Given the description of an element on the screen output the (x, y) to click on. 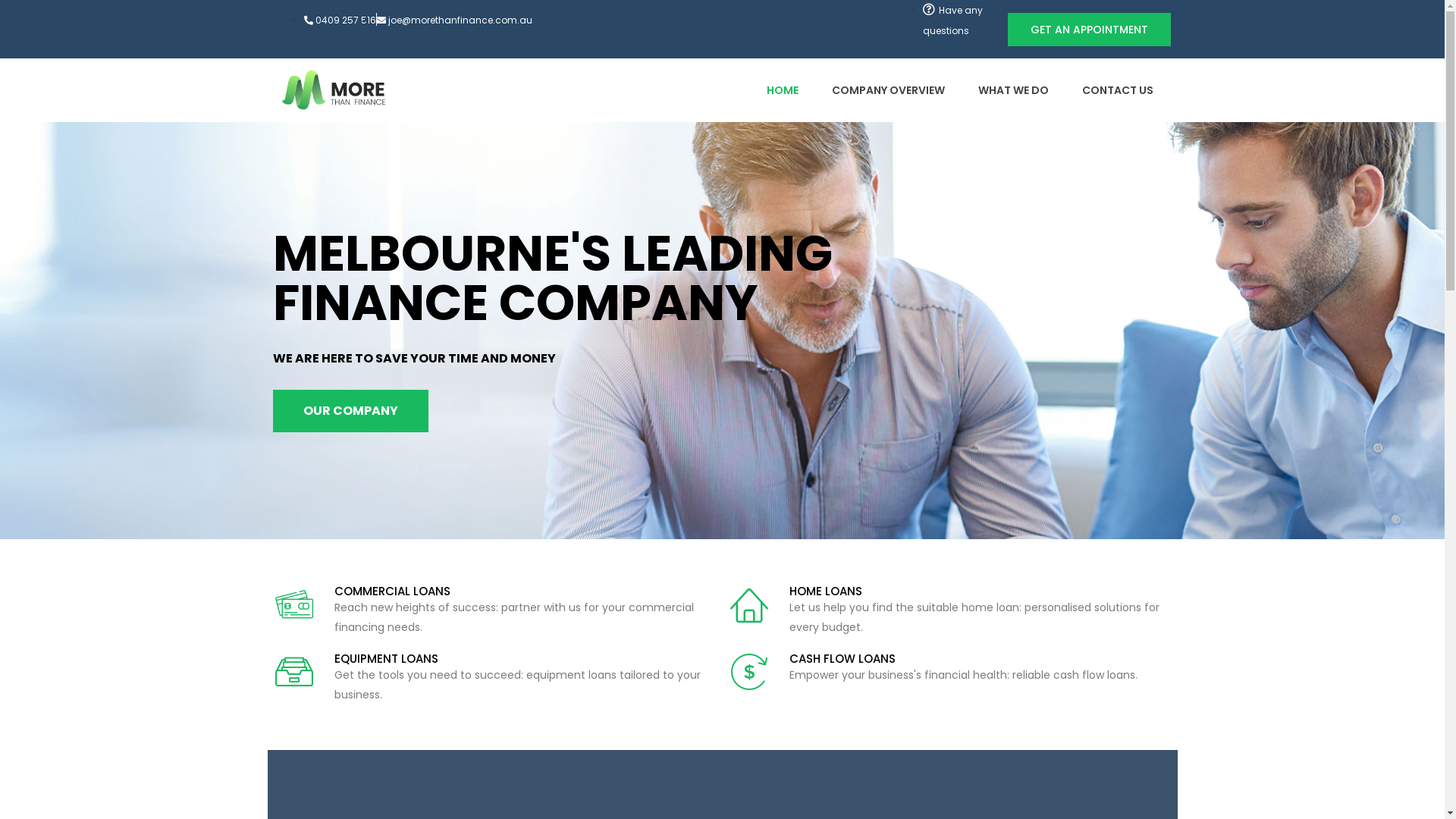
GET AN APPOINTMENT Element type: text (1088, 29)
joe@morethanfinance.com.au Element type: text (453, 19)
WHAT WE DO Element type: text (1013, 89)
0409 257 516 Element type: text (339, 19)
COMPANY OVERVIEW Element type: text (887, 89)
CONTACT US Element type: text (1116, 89)
HOME Element type: text (781, 89)
